Given the description of an element on the screen output the (x, y) to click on. 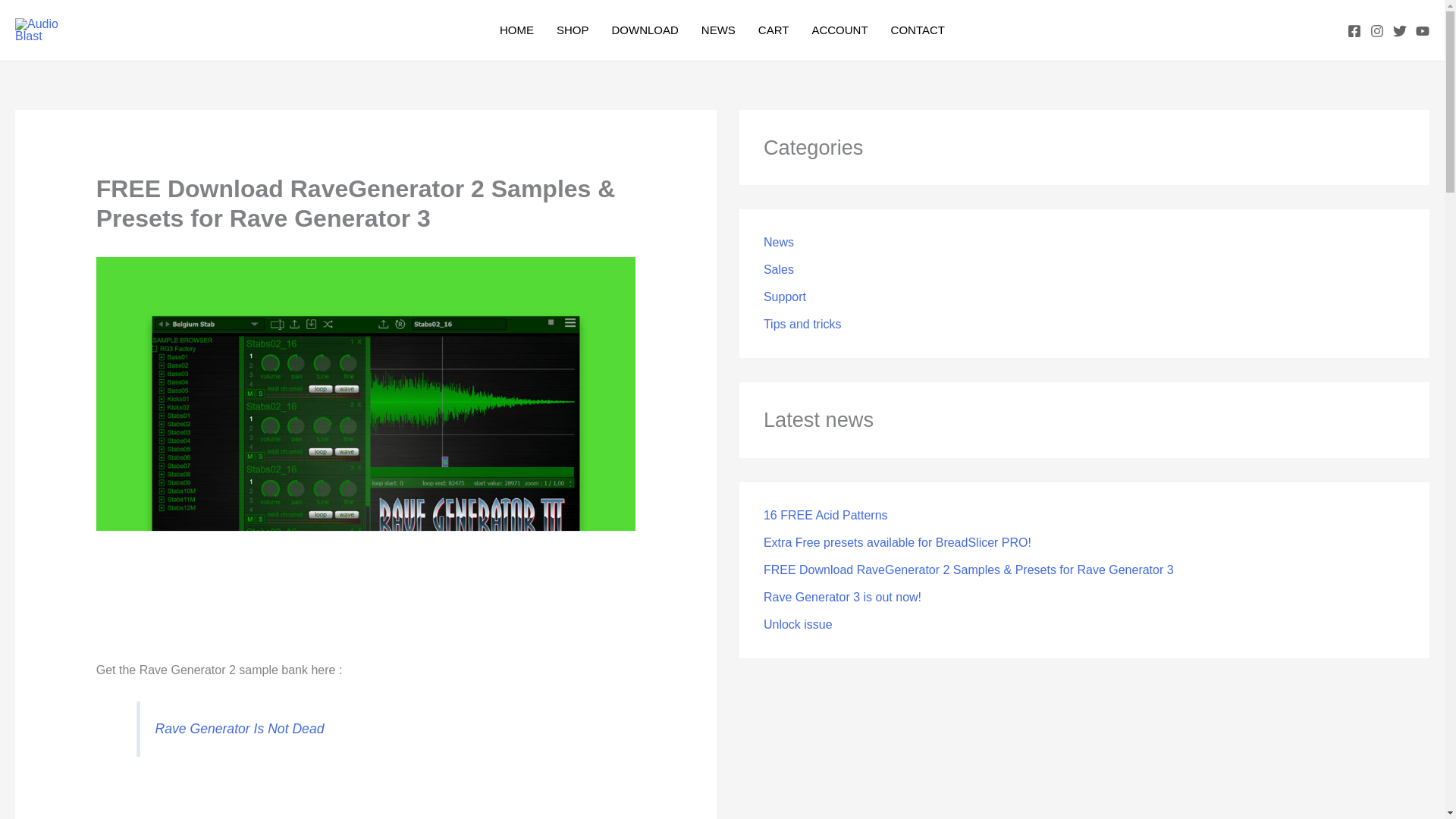
Sales (777, 269)
CONTACT (917, 30)
Unlock issue (797, 624)
Tips and tricks (801, 323)
News (777, 241)
Support (784, 296)
ACCOUNT (839, 30)
NEWS (718, 30)
Rave Generator 3 is out now! (841, 596)
DOWNLOAD (644, 30)
16 FREE Acid Patterns (825, 514)
HOME (515, 30)
Extra Free presets available for BreadSlicer PRO! (896, 542)
Rave Generator 3: load Rave Generator 2 sound bank (366, 798)
SHOP (571, 30)
